Given the description of an element on the screen output the (x, y) to click on. 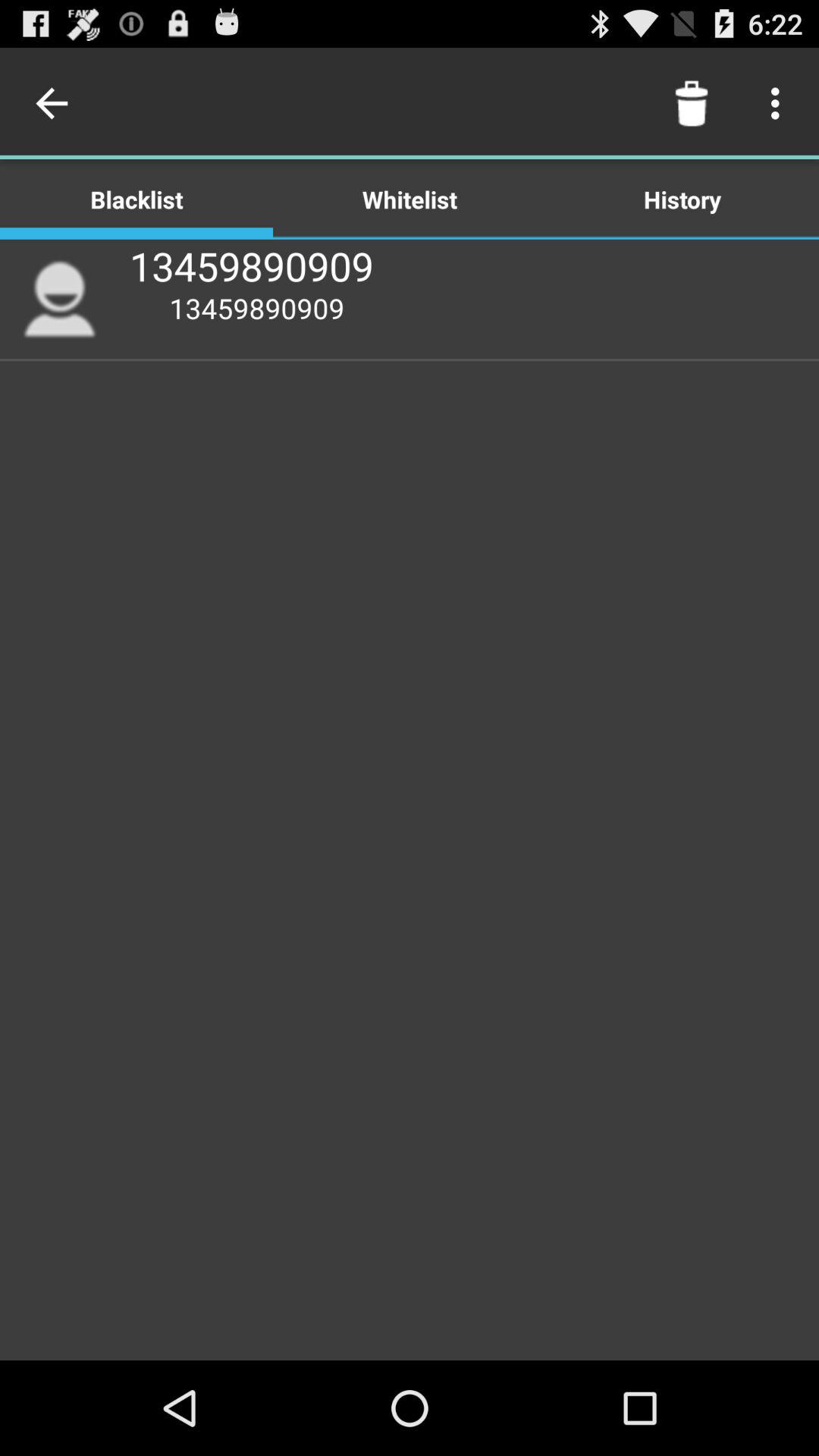
choose the item to the left of the whitelist item (55, 103)
